Given the description of an element on the screen output the (x, y) to click on. 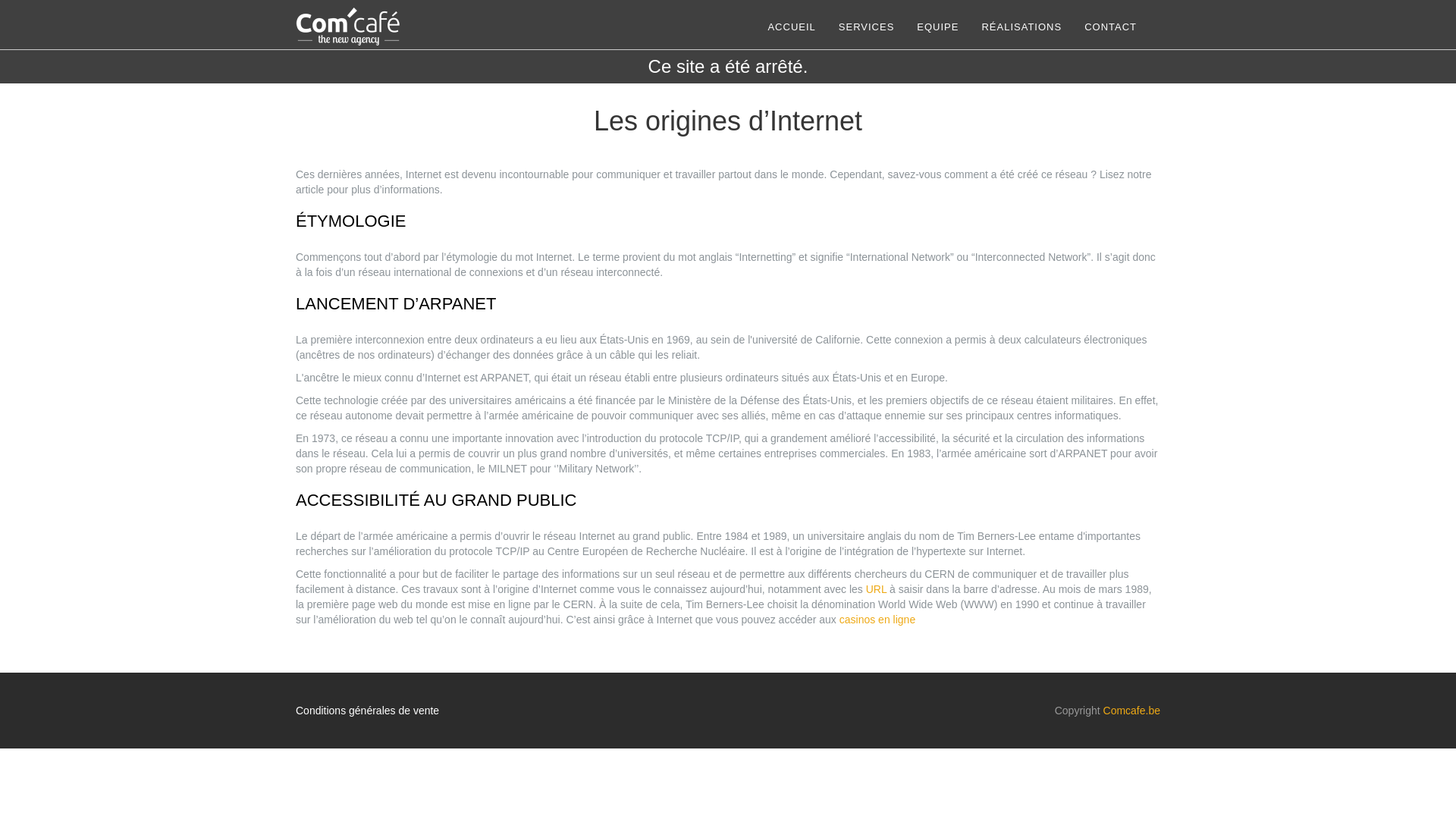
ACCUEIL Element type: text (791, 26)
EQUIPE Element type: text (937, 26)
casinos en ligne Element type: text (877, 619)
CONTACT Element type: text (1110, 26)
URL Element type: text (876, 589)
SERVICES Element type: text (866, 26)
